Given the description of an element on the screen output the (x, y) to click on. 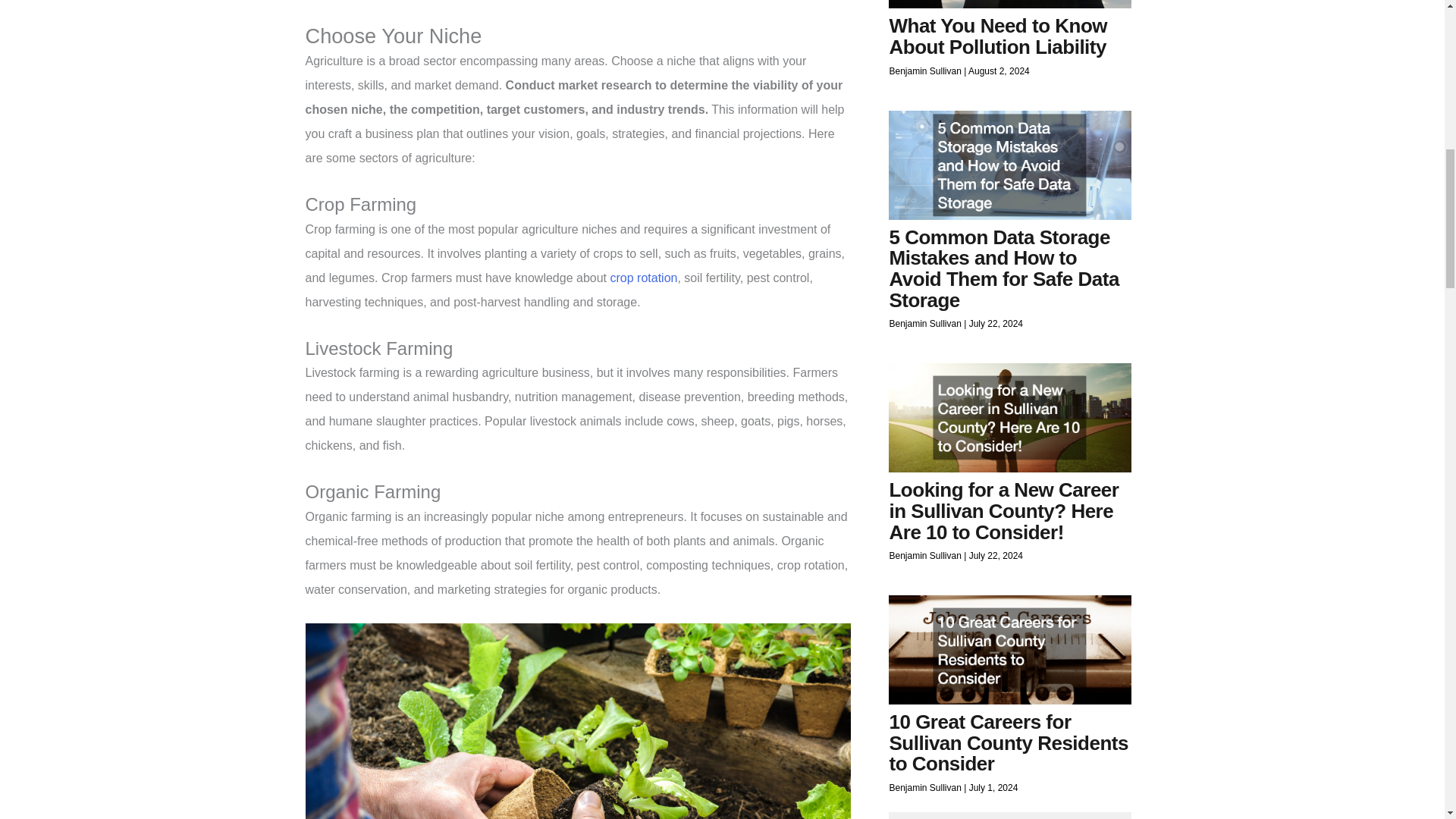
farming (577, 721)
What You Need to Know About Pollution Liability (997, 36)
crop rotation (643, 277)
10 Great Careers for Sullivan County Residents to Consider (1007, 742)
